Given the description of an element on the screen output the (x, y) to click on. 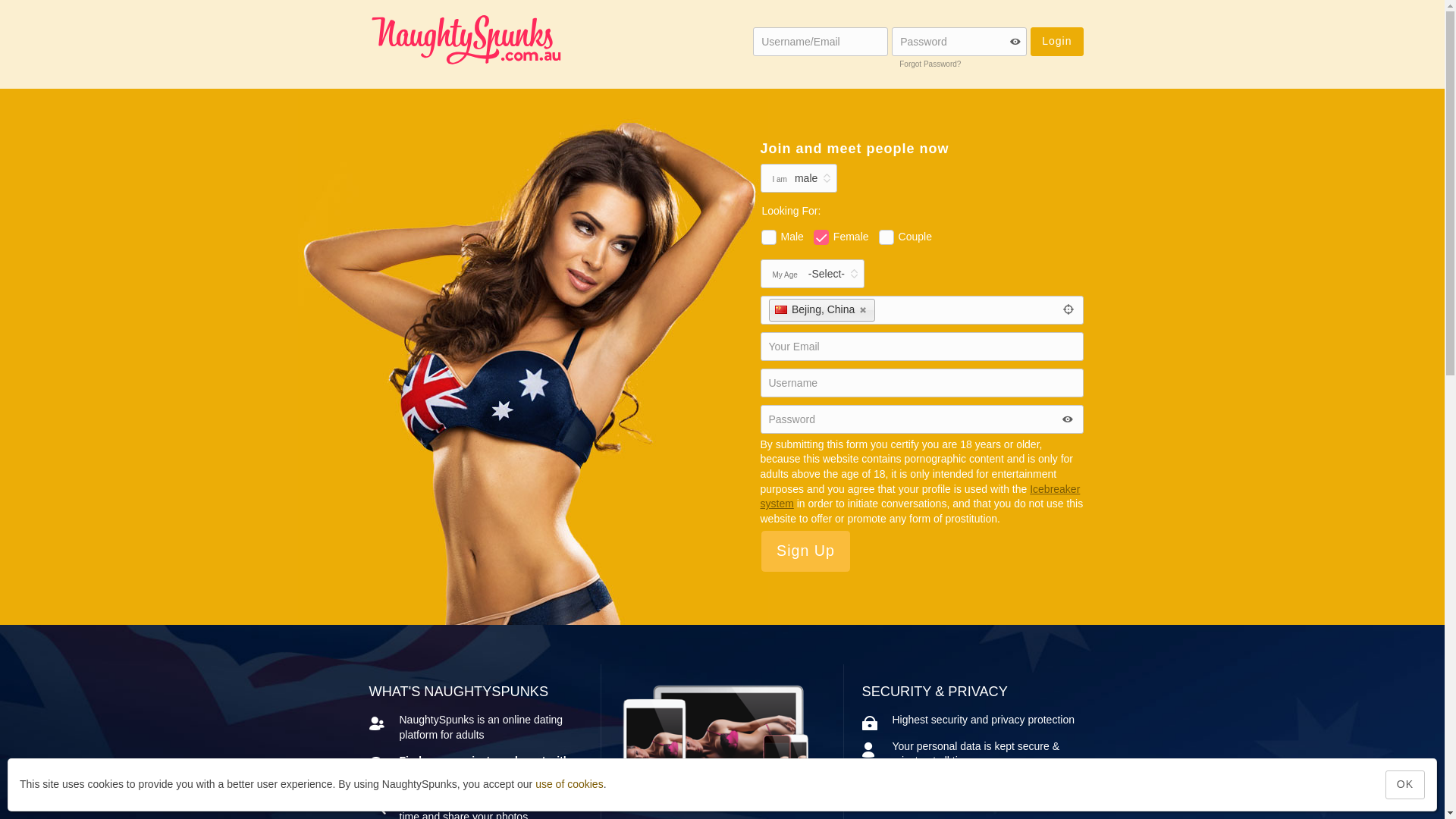
use of cookies Element type: text (569, 784)
Get Current Location Element type: hover (1068, 309)
Forgot Password? Element type: text (929, 64)
Login Element type: text (1056, 41)
Icebreaker system Element type: text (919, 496)
Privacy Policy Element type: text (971, 787)
OK Element type: text (1404, 784)
Sign Up Element type: text (805, 550)
